Given the description of an element on the screen output the (x, y) to click on. 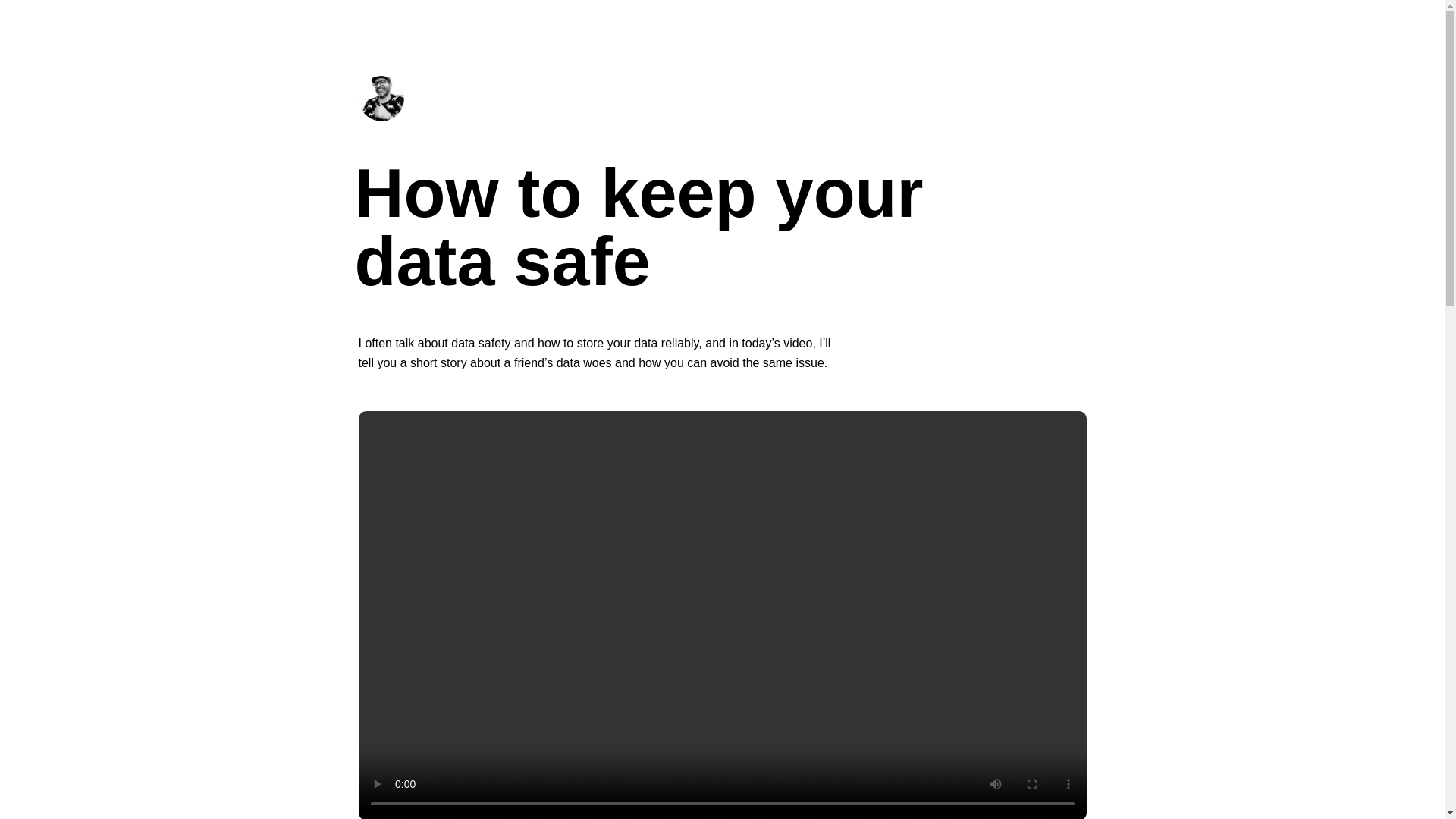
Home (380, 116)
